Given the description of an element on the screen output the (x, y) to click on. 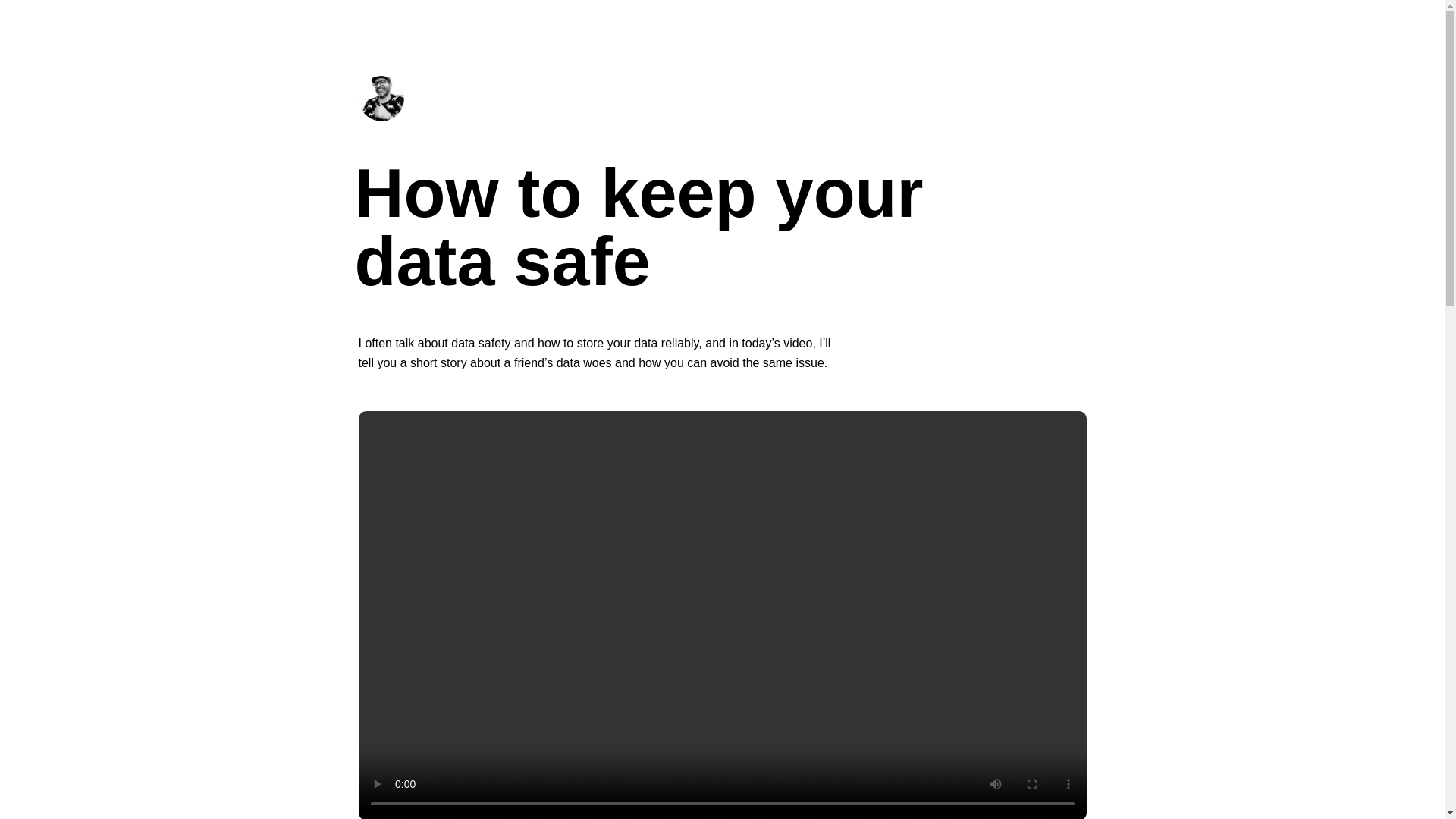
Home (380, 116)
